Given the description of an element on the screen output the (x, y) to click on. 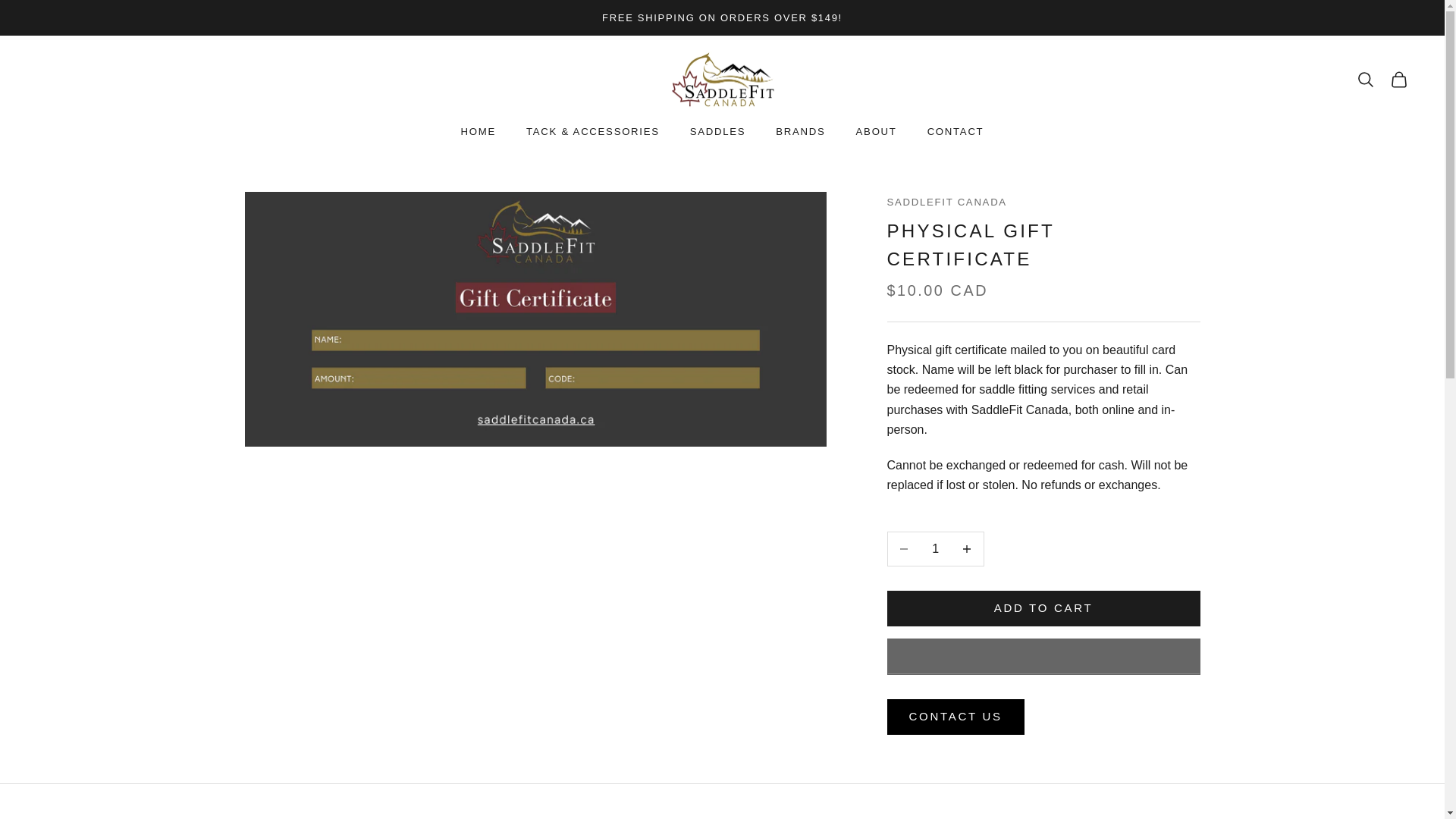
HOME (478, 131)
SaddleFit Outfitters Canada LTD (721, 79)
1 (935, 548)
